Given the description of an element on the screen output the (x, y) to click on. 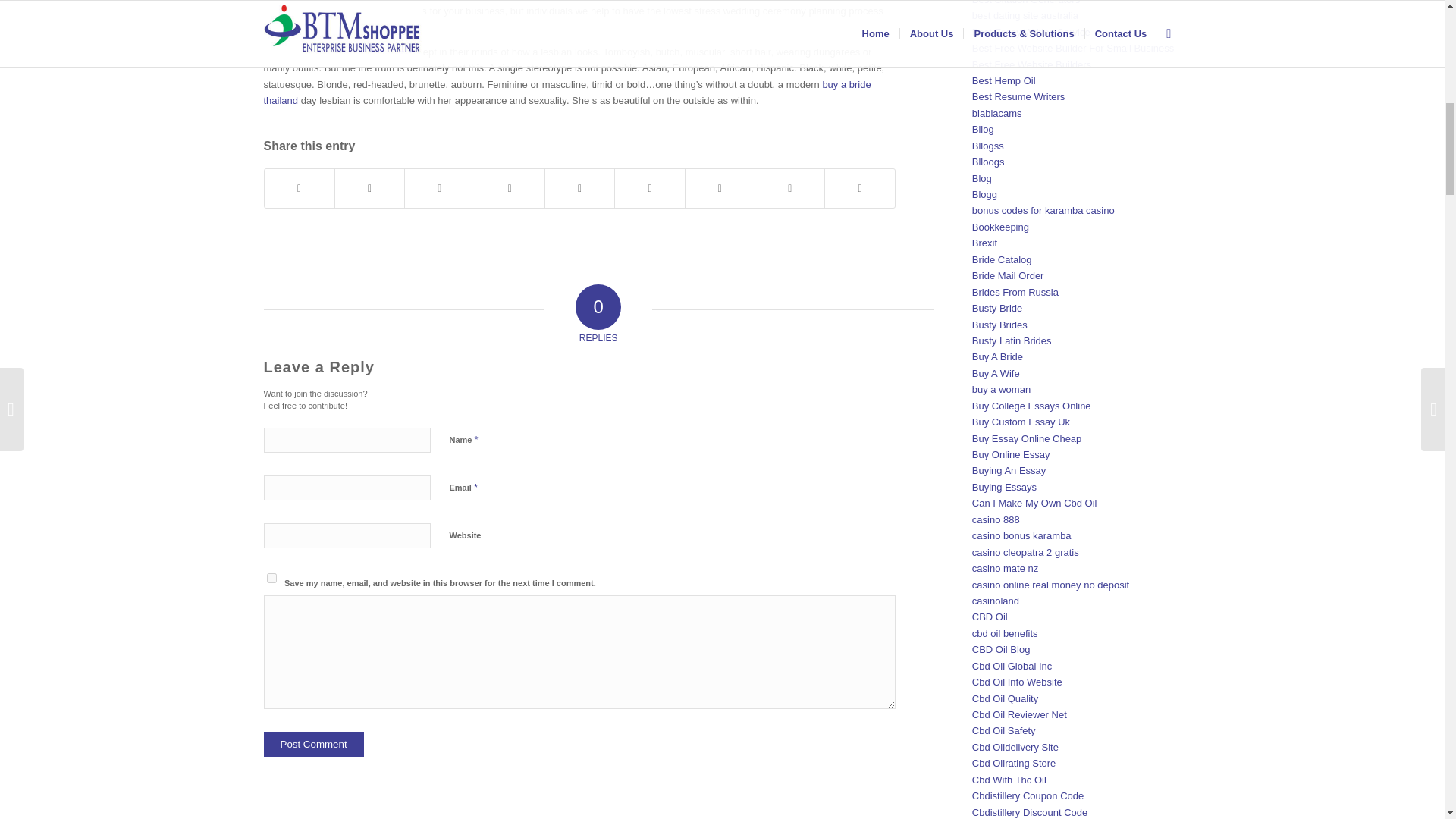
Post Comment (313, 744)
Post Comment (313, 744)
buy a bride thailand (566, 92)
yes (271, 578)
